Given the description of an element on the screen output the (x, y) to click on. 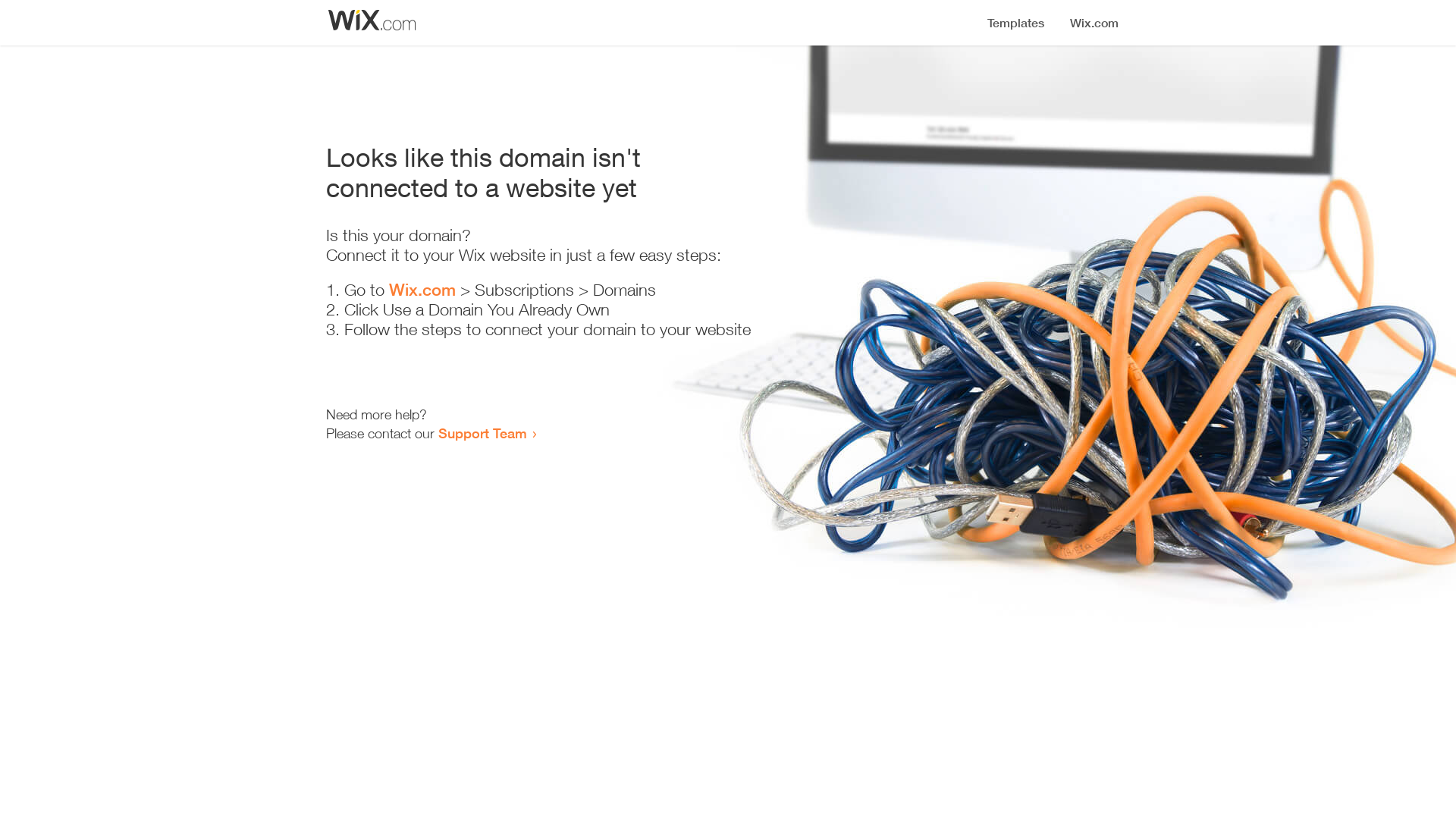
Wix.com Element type: text (422, 289)
Support Team Element type: text (482, 432)
